Given the description of an element on the screen output the (x, y) to click on. 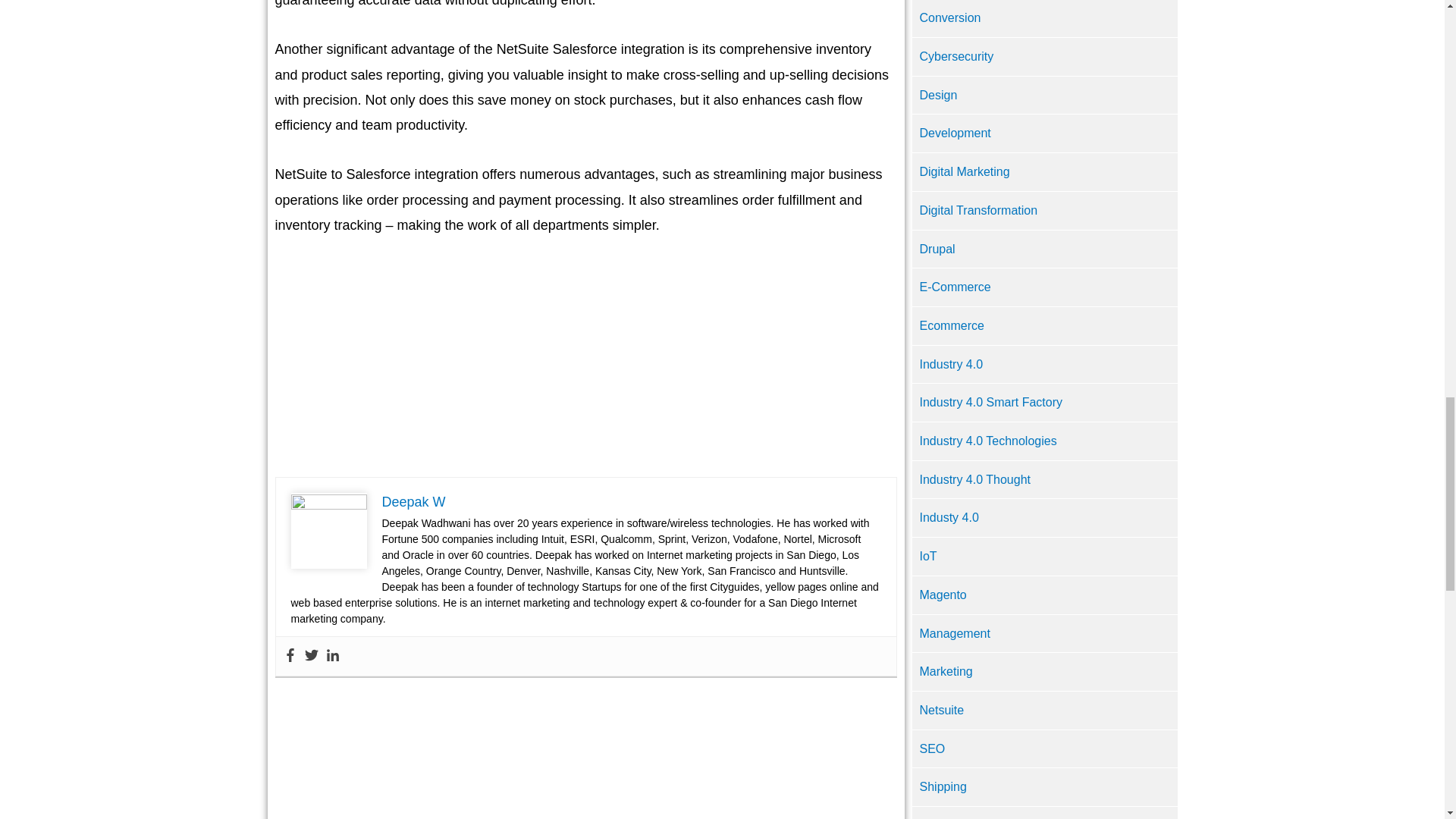
Conversion (948, 17)
Deepak W (413, 501)
Cybersecurity (955, 56)
